Given the description of an element on the screen output the (x, y) to click on. 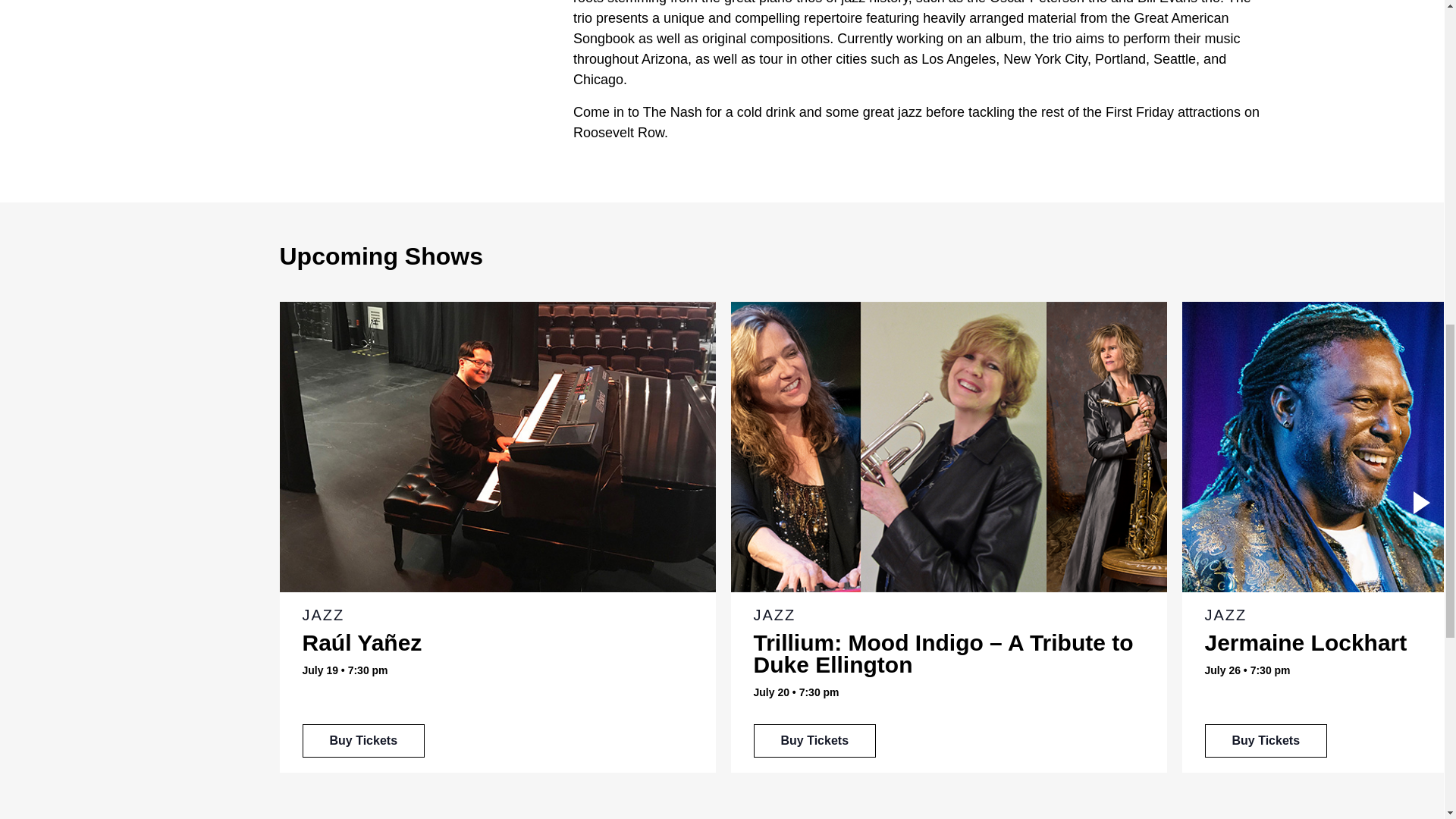
Jermaine Lockhart (1305, 642)
Jermaine Lockhart (1265, 740)
